Given the description of an element on the screen output the (x, y) to click on. 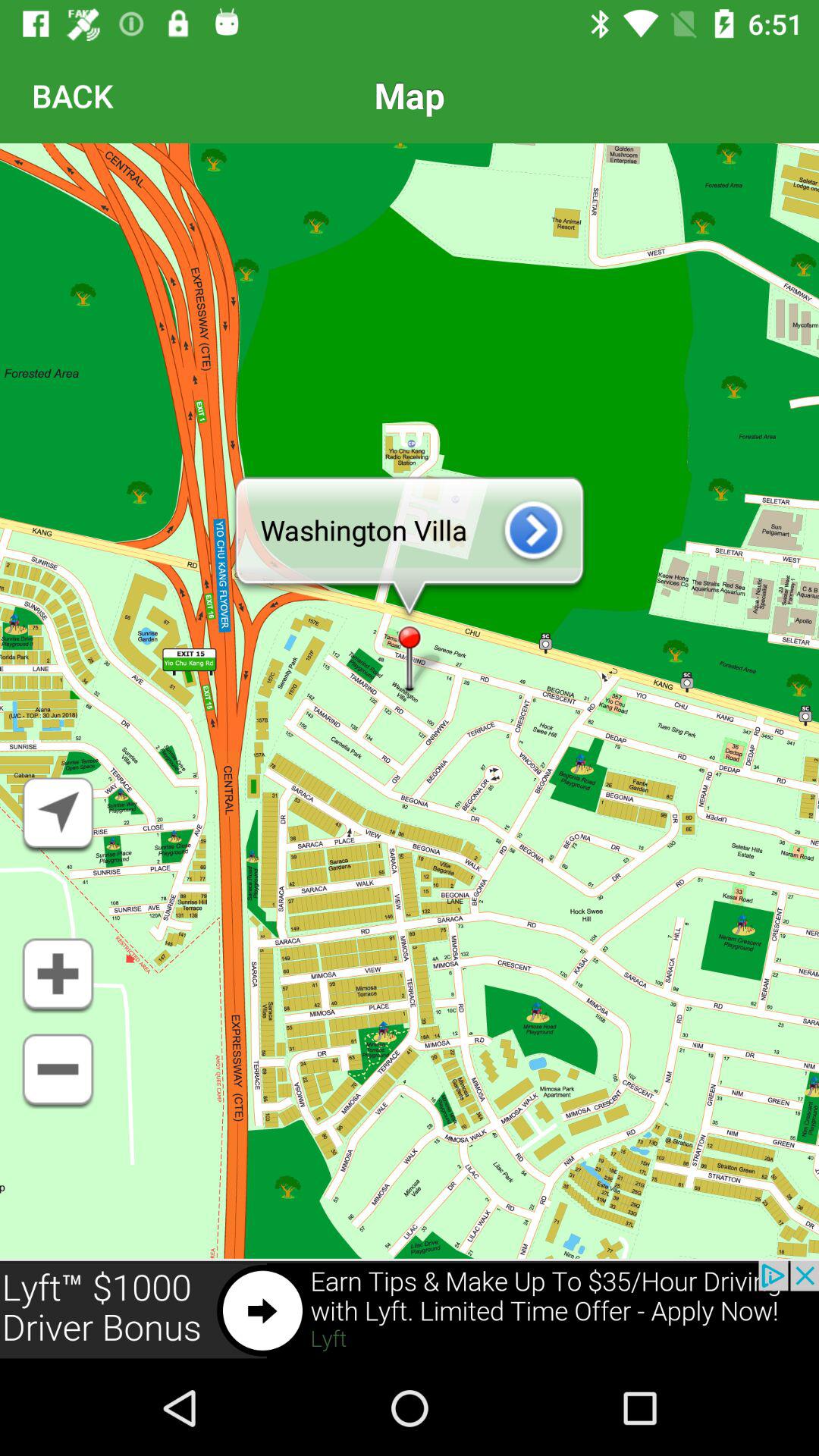
go to advertisement (409, 1310)
